Given the description of an element on the screen output the (x, y) to click on. 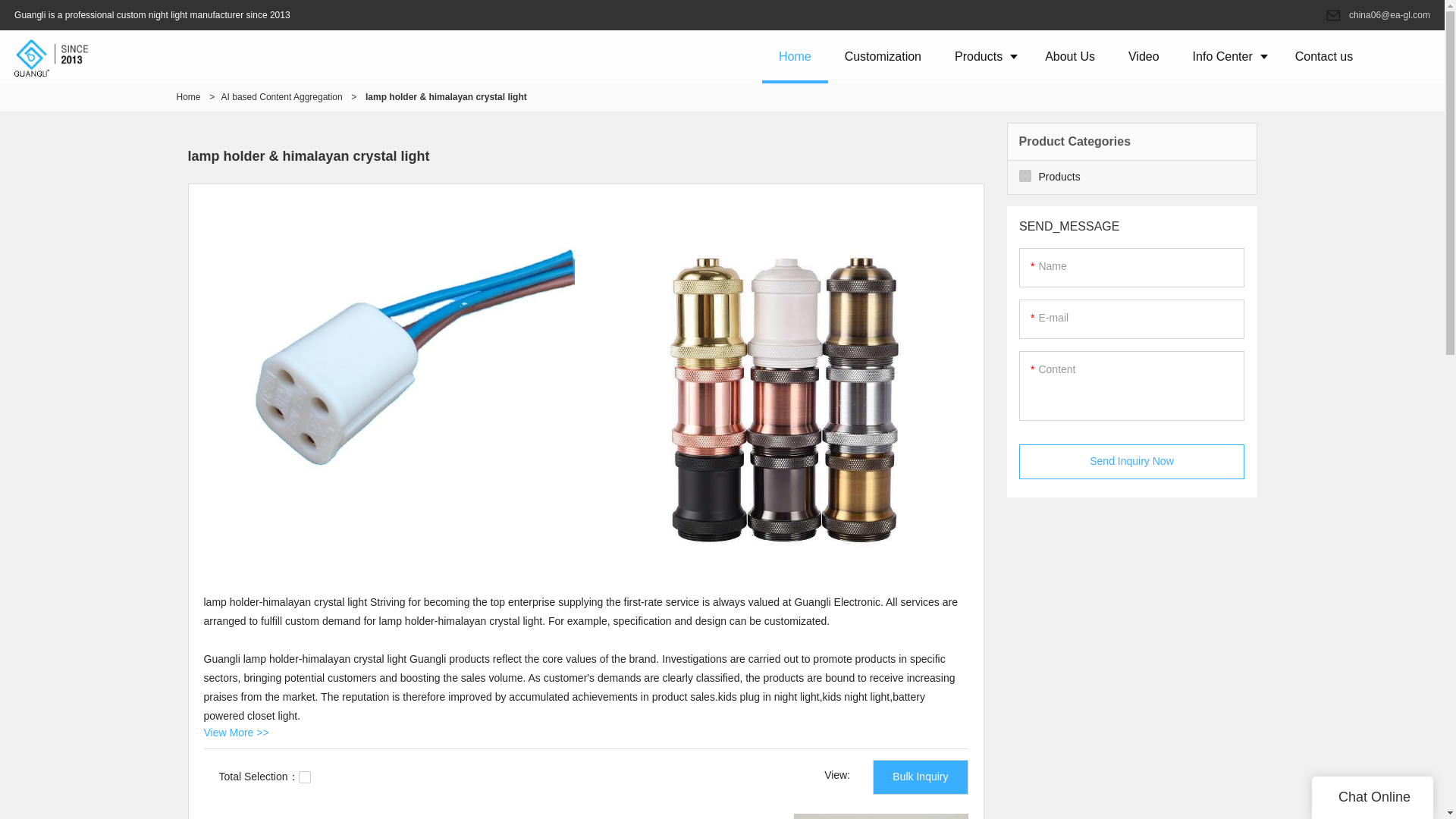
Products (982, 56)
Customization (882, 56)
Video (1144, 56)
Home (794, 56)
Home (188, 96)
Contact us (1324, 56)
Info Center (1227, 56)
About Us (1069, 56)
on (304, 776)
AI based Content Aggregation (281, 96)
